Given the description of an element on the screen output the (x, y) to click on. 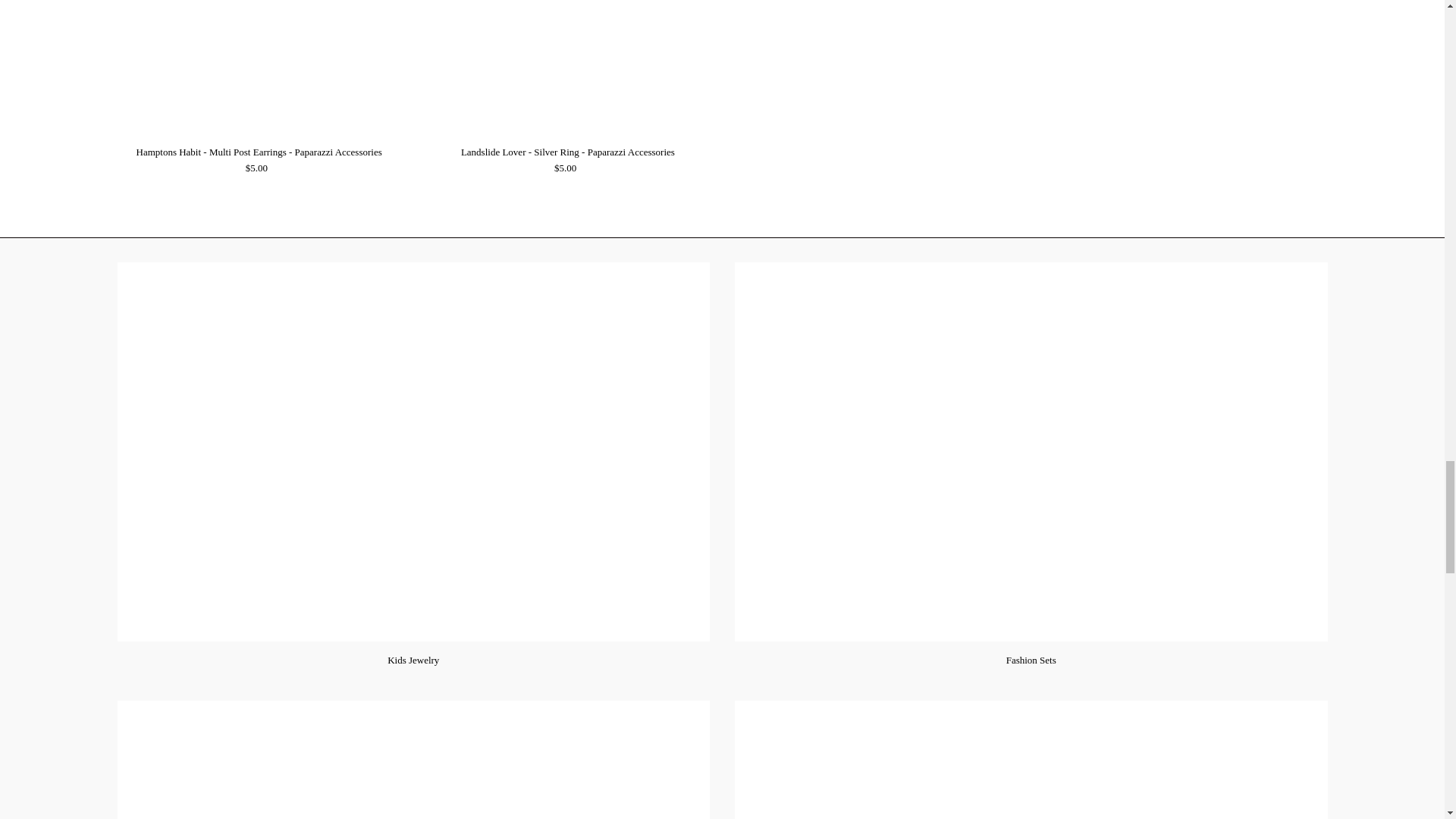
Landslide Lover - Silver Ring - Paparazzi Accessories (568, 67)
Hamptons Habit - Multi Post Earrings - Paparazzi Accessories (258, 67)
